Given the description of an element on the screen output the (x, y) to click on. 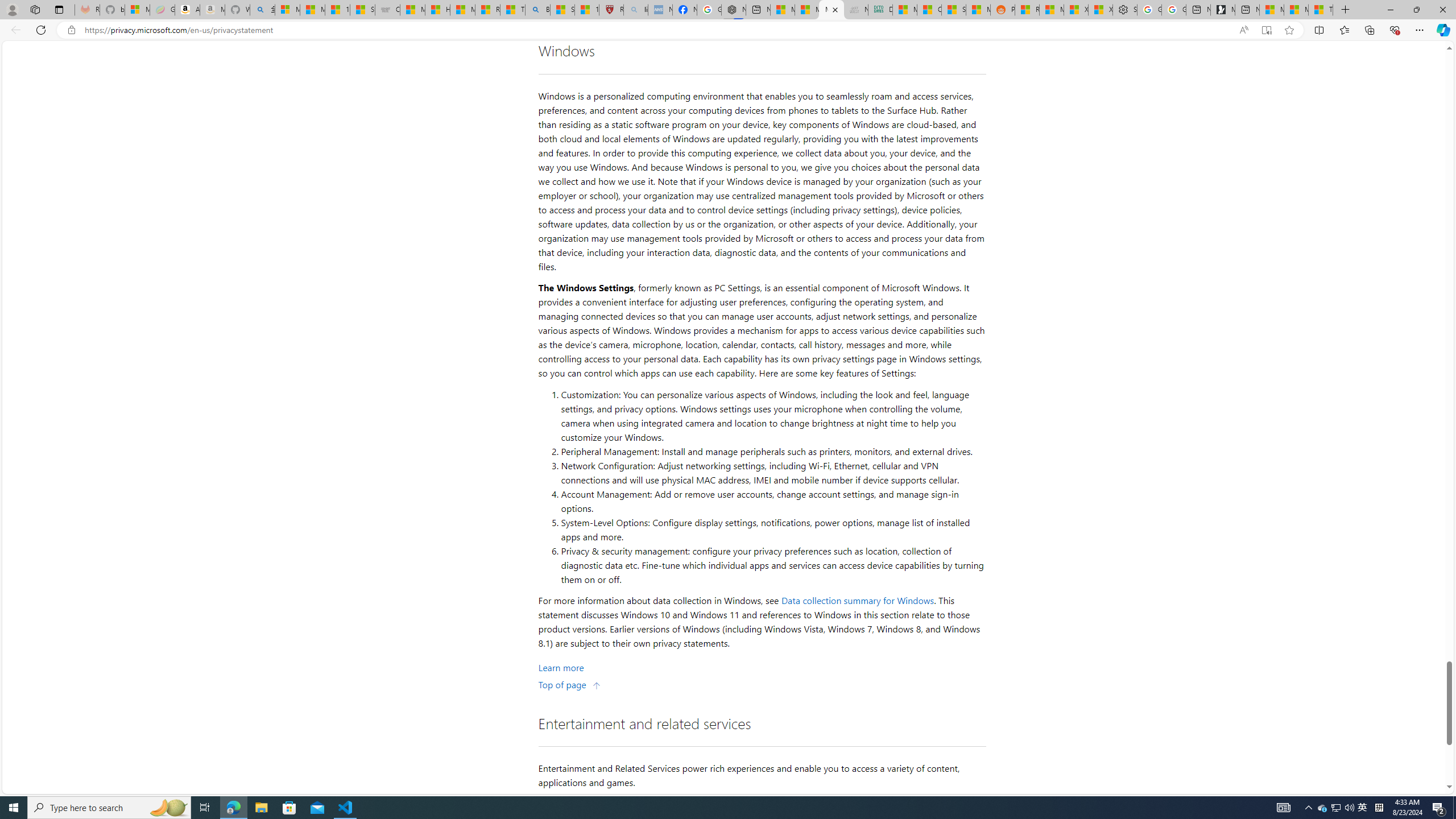
Microsoft Start Gaming (1222, 9)
Microsoft account | Privacy (287, 9)
Bing (536, 9)
NCL Adult Asthma Inhaler Choice Guideline - Sleeping (660, 9)
Nordace - Nordace Siena Is Not An Ordinary Backpack (733, 9)
Recipes - MSN (487, 9)
12 Popular Science Lies that Must be Corrected (586, 9)
